Given the description of an element on the screen output the (x, y) to click on. 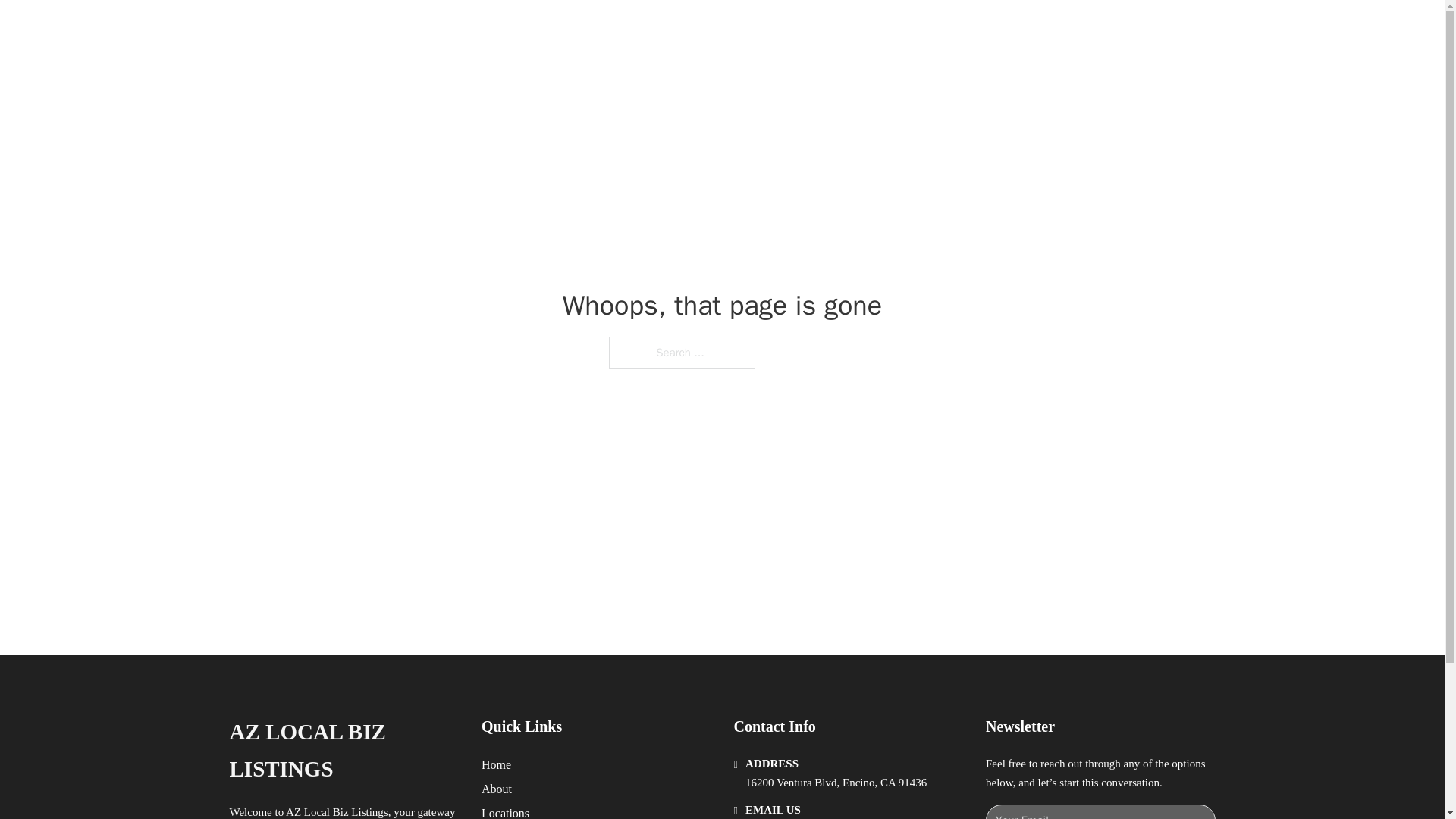
About (496, 788)
HOME (919, 29)
LOCATIONS (990, 29)
Locations (505, 811)
Home (496, 764)
AZ LOCAL BIZ LISTINGS (343, 750)
AZ LOCAL BIZ LISTINGS (425, 28)
